Given the description of an element on the screen output the (x, y) to click on. 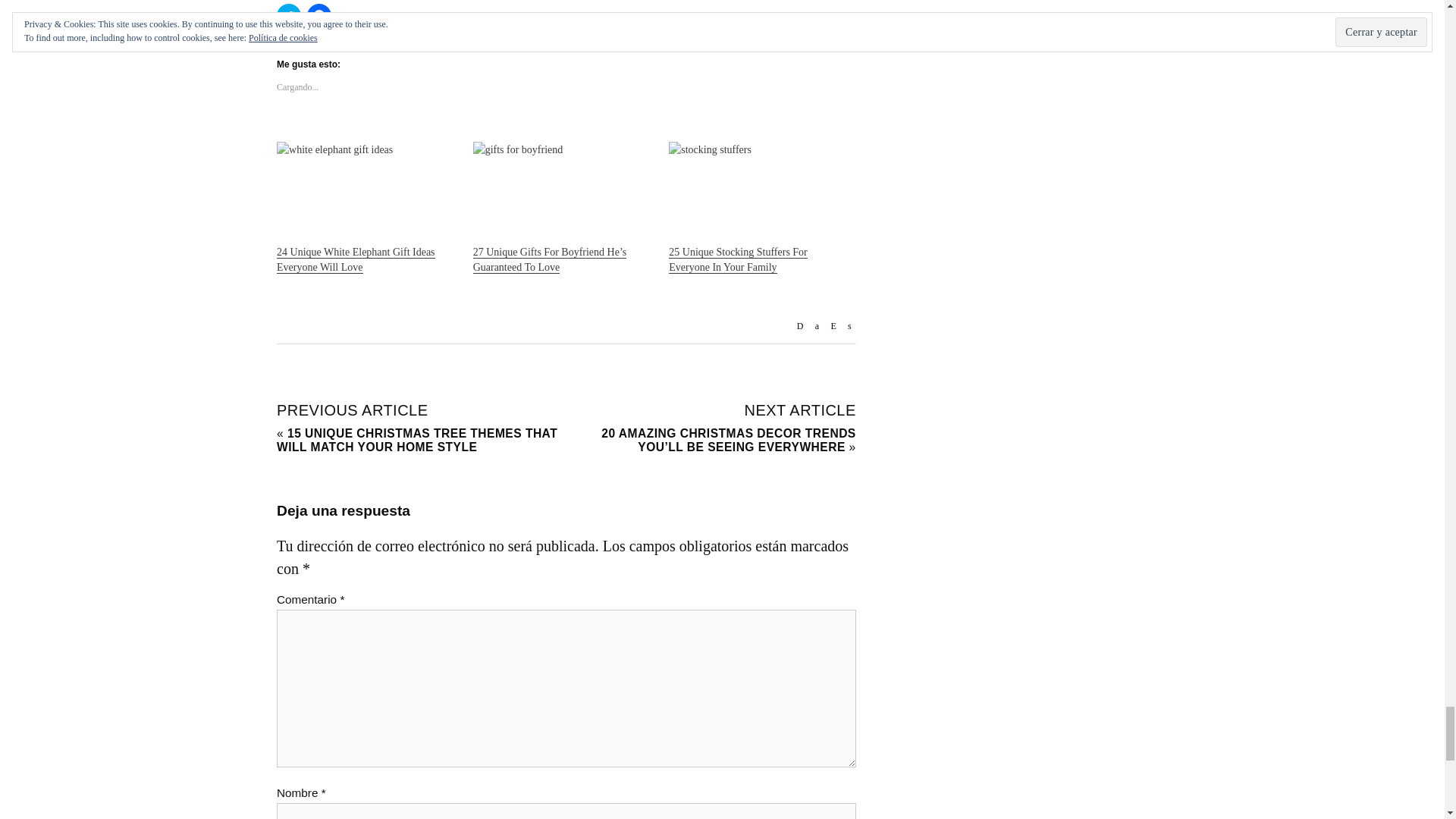
Haz clic para compartir en Twitter (288, 15)
Haz clic para compartir en Facebook (319, 15)
25 Unique Stocking Stuffers For Everyone In Your Family (738, 259)
25 Unique Stocking Stuffers For Everyone In Your Family (759, 192)
24 Unique White Elephant Gift Ideas Everyone Will Love (355, 259)
24 Unique White Elephant Gift Ideas Everyone Will Love (367, 192)
